Given the description of an element on the screen output the (x, y) to click on. 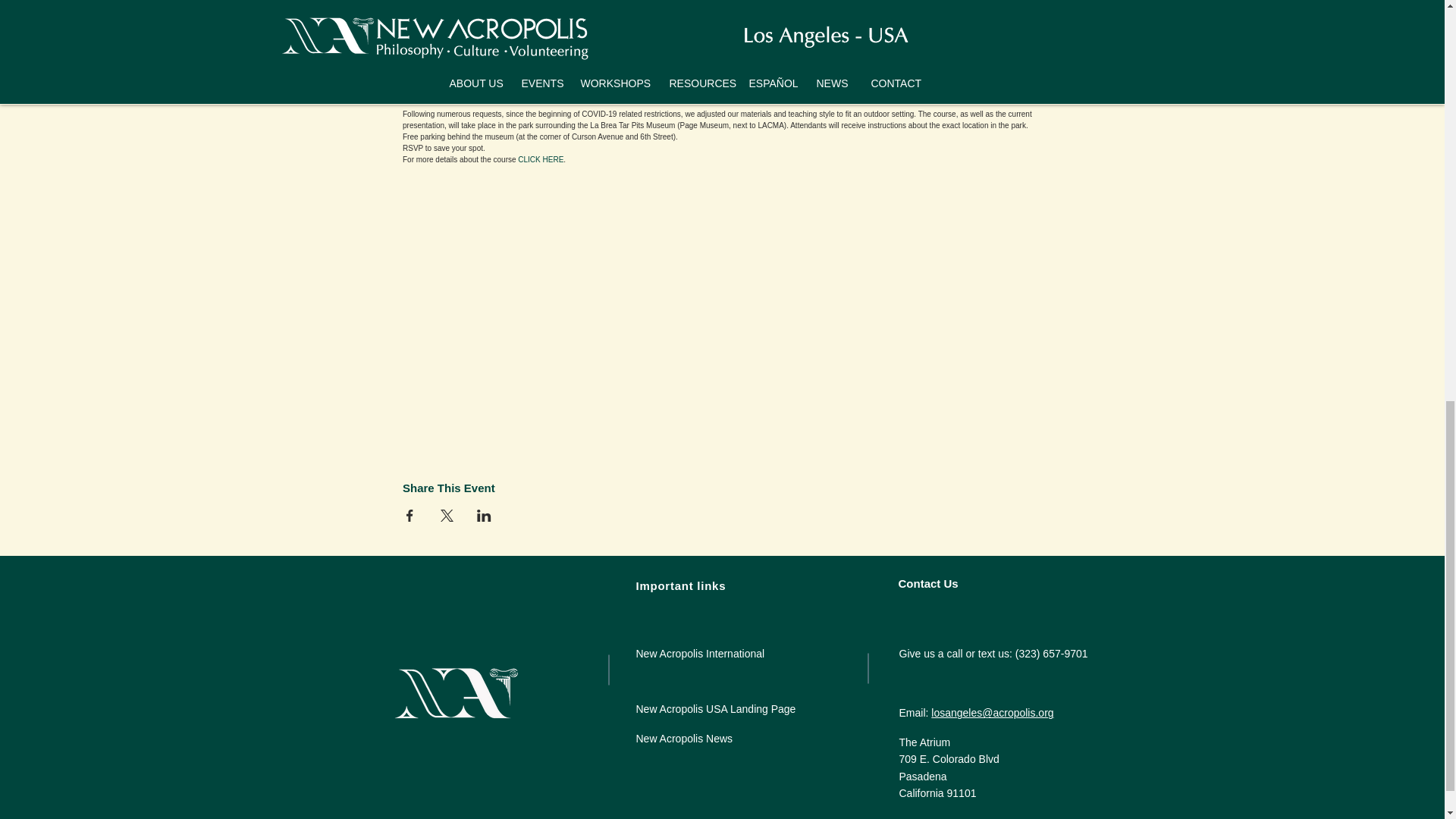
New Acropolis International (699, 653)
New Acropolis USA Landing Page (714, 708)
New Acropolis News (683, 738)
Philosophy In The Park Course (525, 90)
CLICK HERE (540, 159)
